Given the description of an element on the screen output the (x, y) to click on. 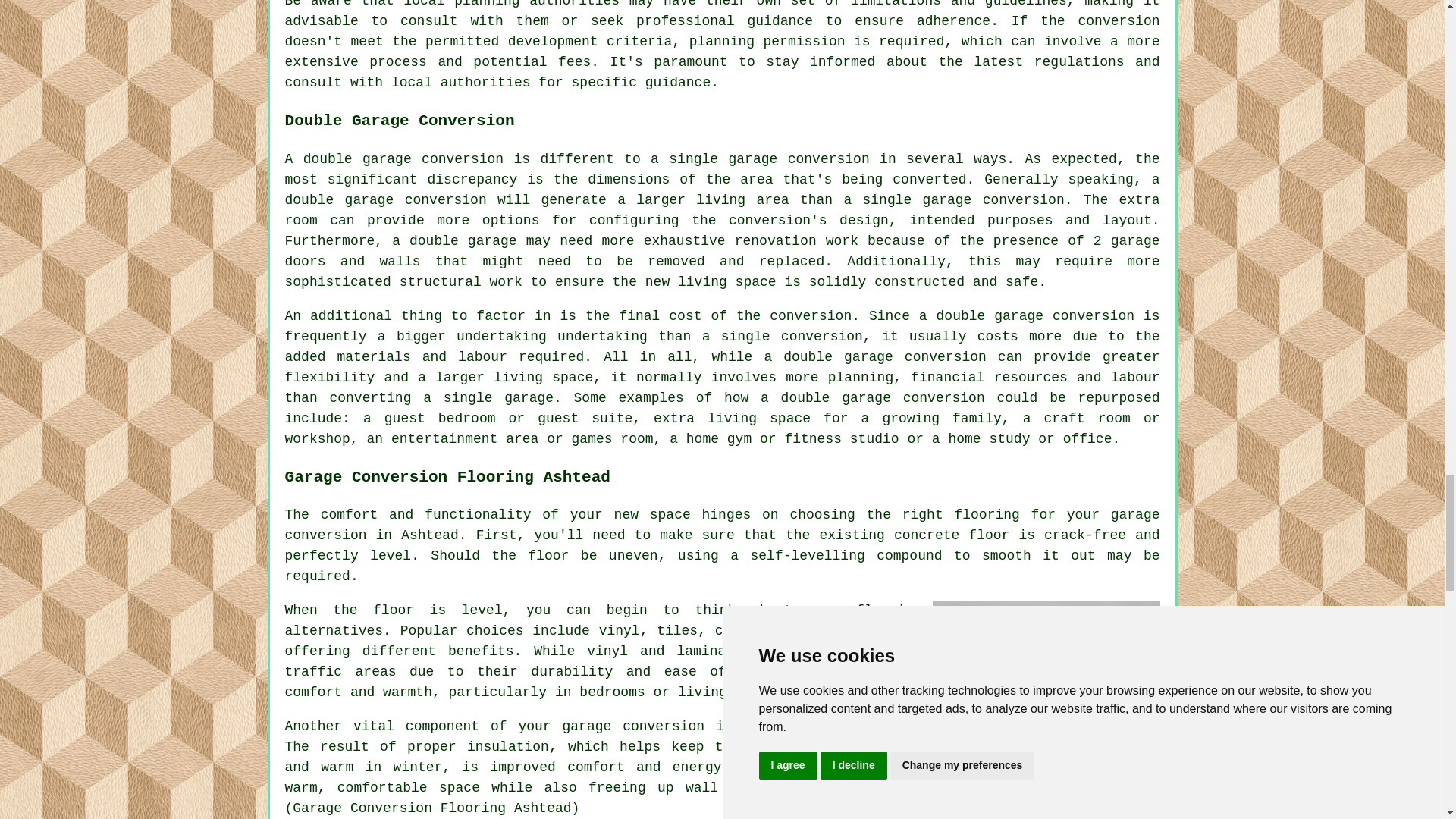
double garage conversion (385, 200)
floor (392, 610)
planning permission (766, 41)
garage conversion (722, 524)
Garage Conversion Flooring Ashtead (1046, 675)
conversion (663, 726)
